Given the description of an element on the screen output the (x, y) to click on. 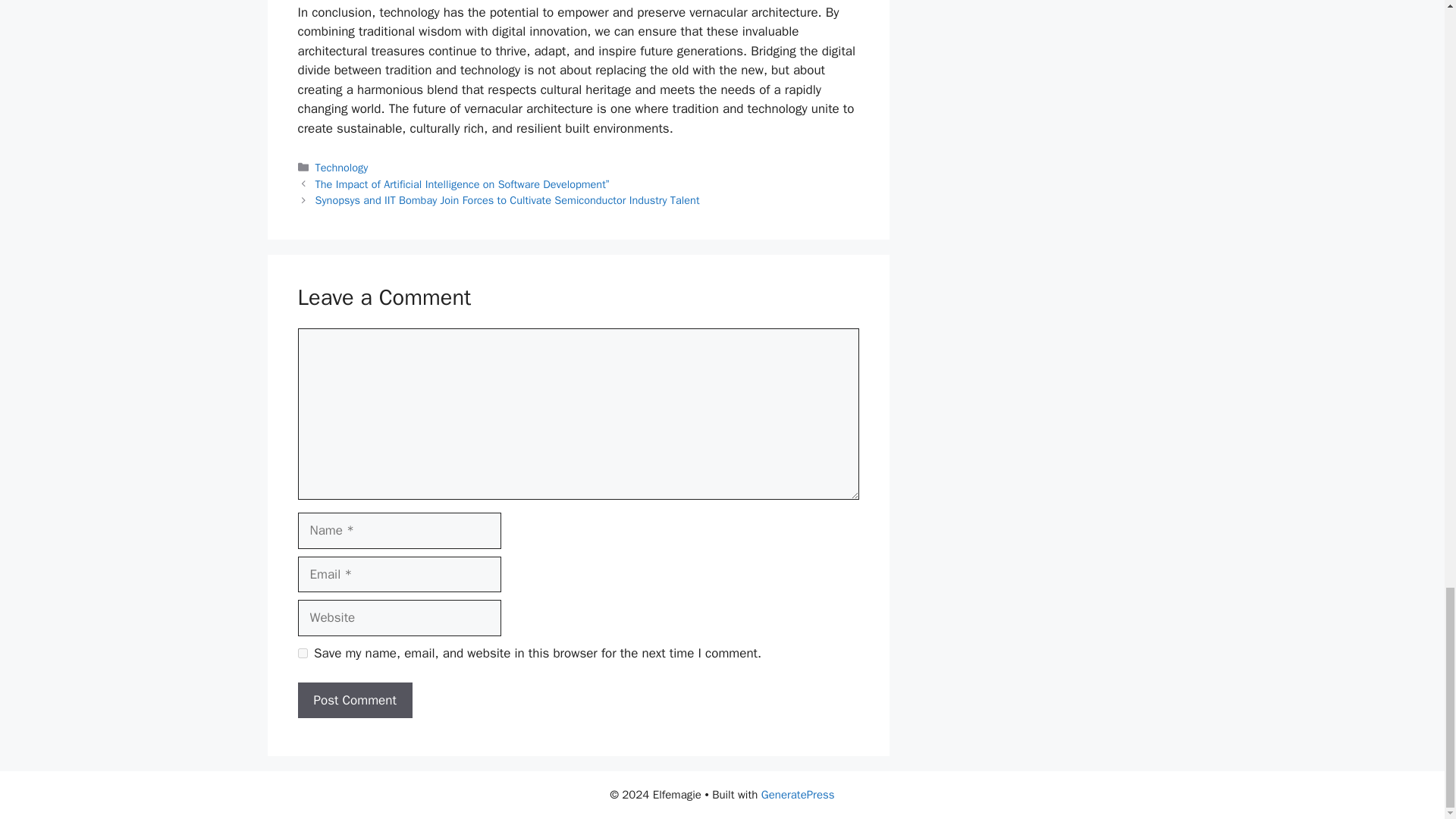
GeneratePress (797, 794)
Post Comment (354, 700)
Post Comment (354, 700)
Technology (341, 167)
yes (302, 653)
